Given the description of an element on the screen output the (x, y) to click on. 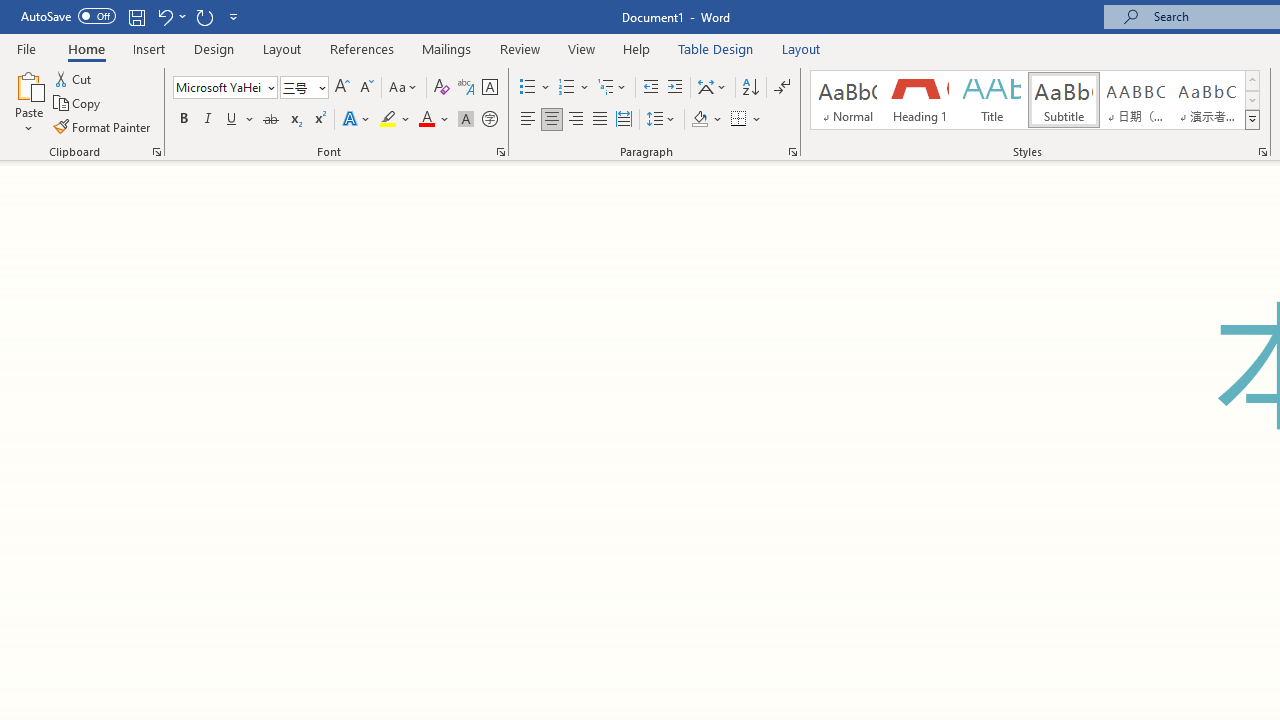
Shading RGB(0, 0, 0) (699, 119)
Row Down (1252, 100)
References (362, 48)
Phonetic Guide... (465, 87)
Font Color (434, 119)
Font Color Red (426, 119)
Layout (801, 48)
Asian Layout (712, 87)
Font Size (297, 87)
Font (224, 87)
View (582, 48)
Shading (706, 119)
Heading 1 (920, 100)
Center (552, 119)
